Given the description of an element on the screen output the (x, y) to click on. 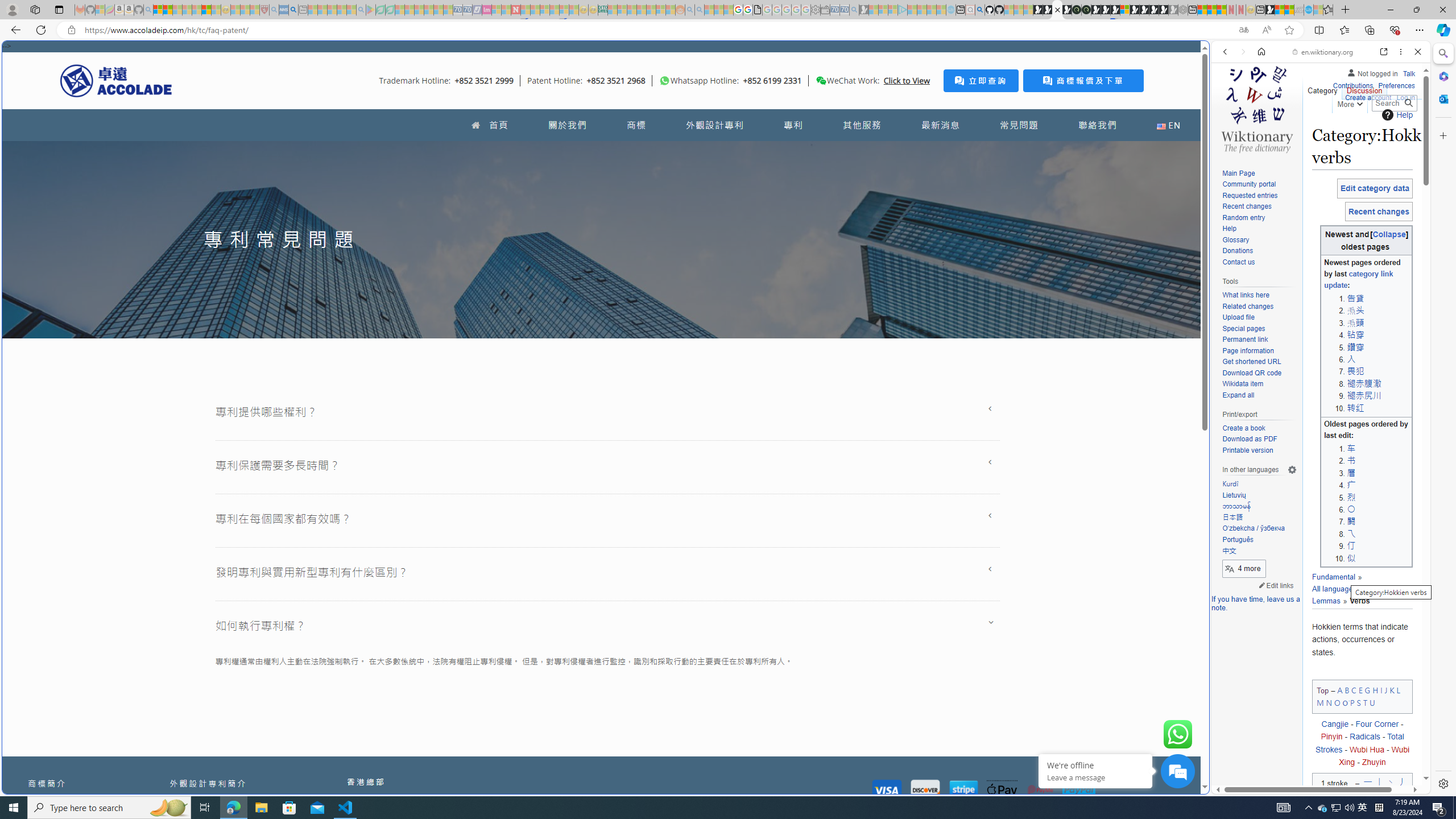
Lemmas (1355, 595)
Wikidata item (1242, 384)
Accolade IP HK Logo (116, 80)
What links here (1245, 295)
github - Search (979, 9)
